Given the description of an element on the screen output the (x, y) to click on. 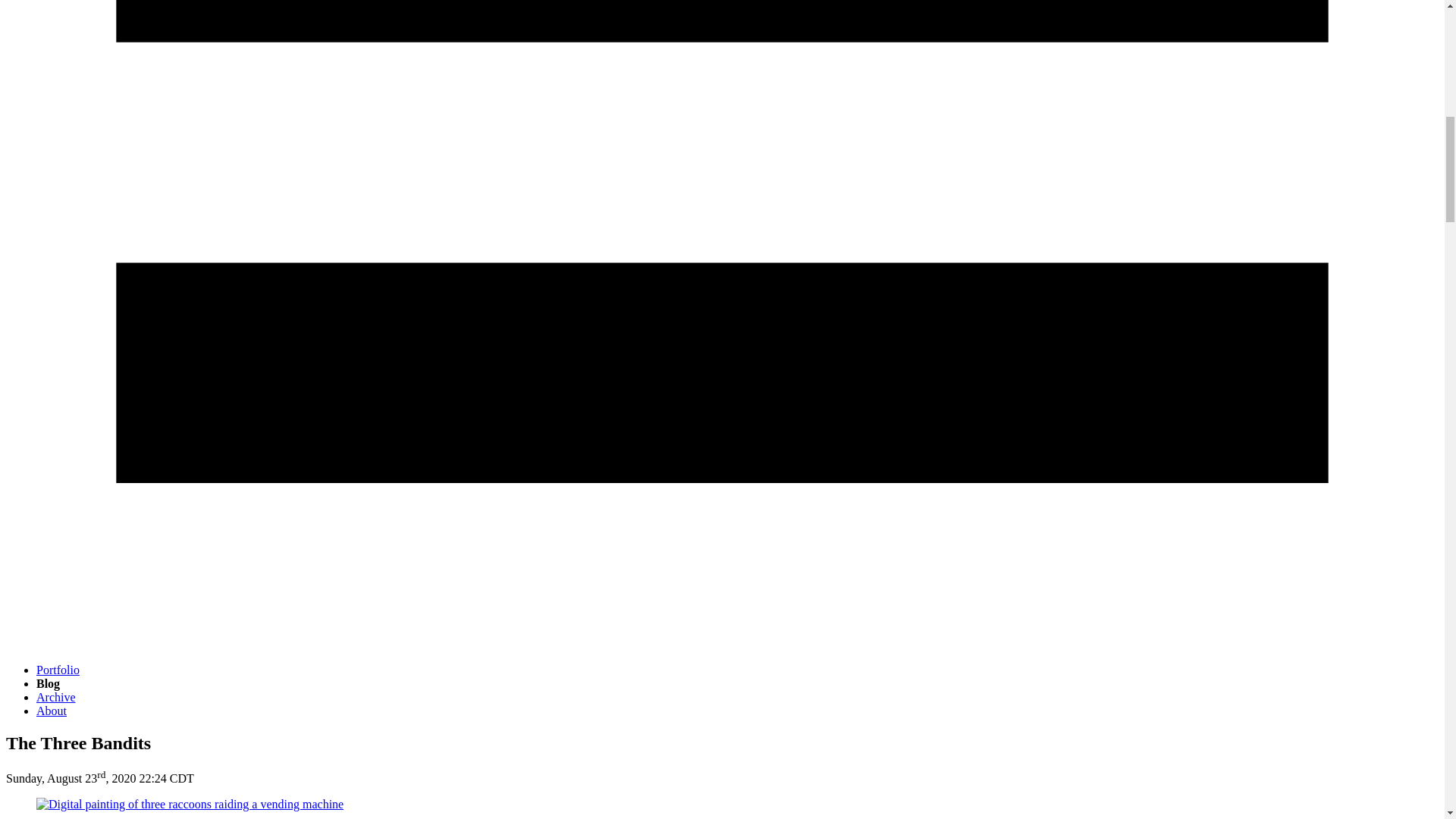
Archive (55, 697)
About (51, 710)
Portfolio (58, 669)
